Given the description of an element on the screen output the (x, y) to click on. 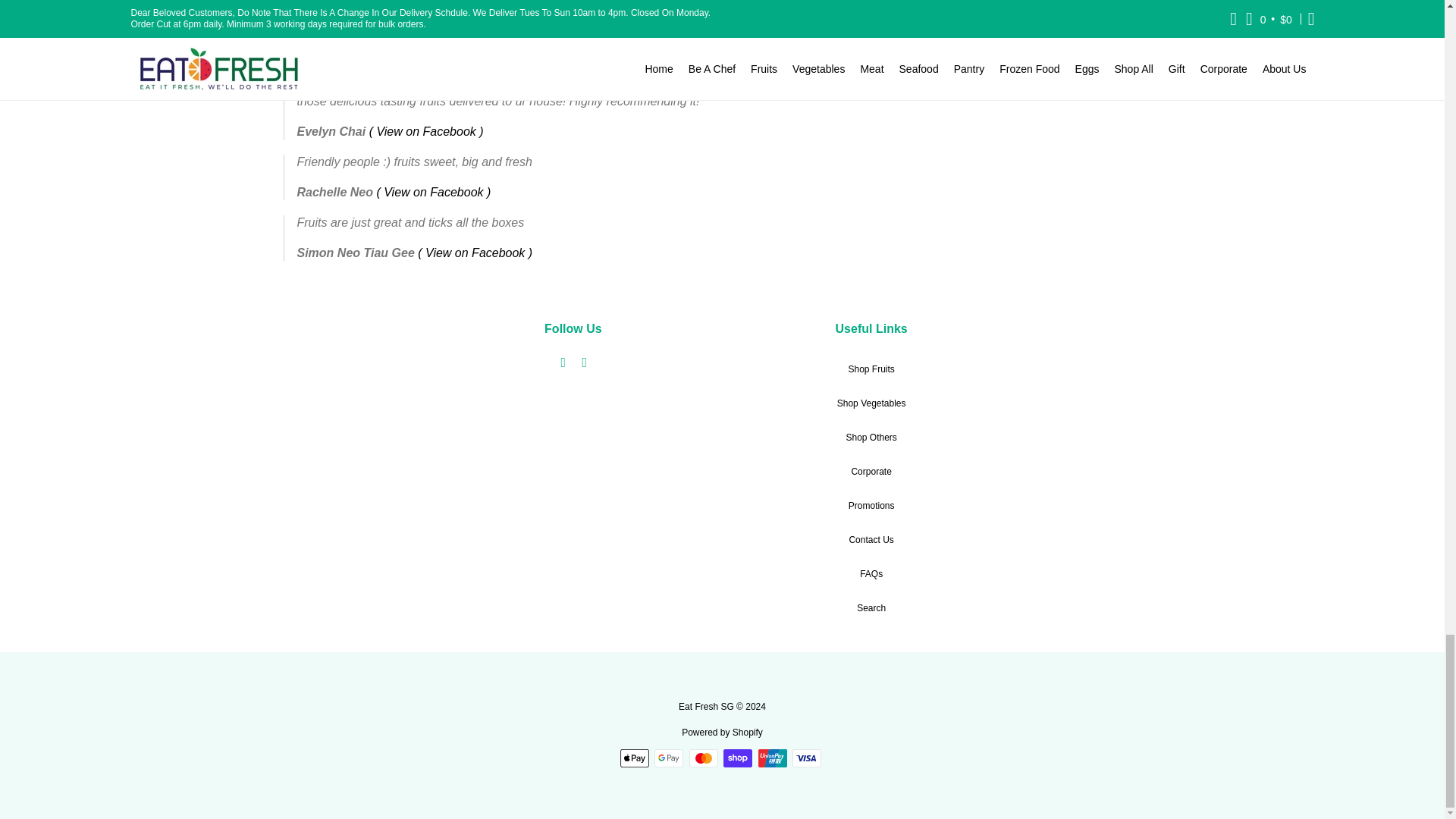
Union Pay (772, 758)
Shop Pay (737, 758)
Apple Pay (634, 758)
Visa (806, 758)
Mastercard (702, 758)
Google Pay (667, 758)
